Given the description of an element on the screen output the (x, y) to click on. 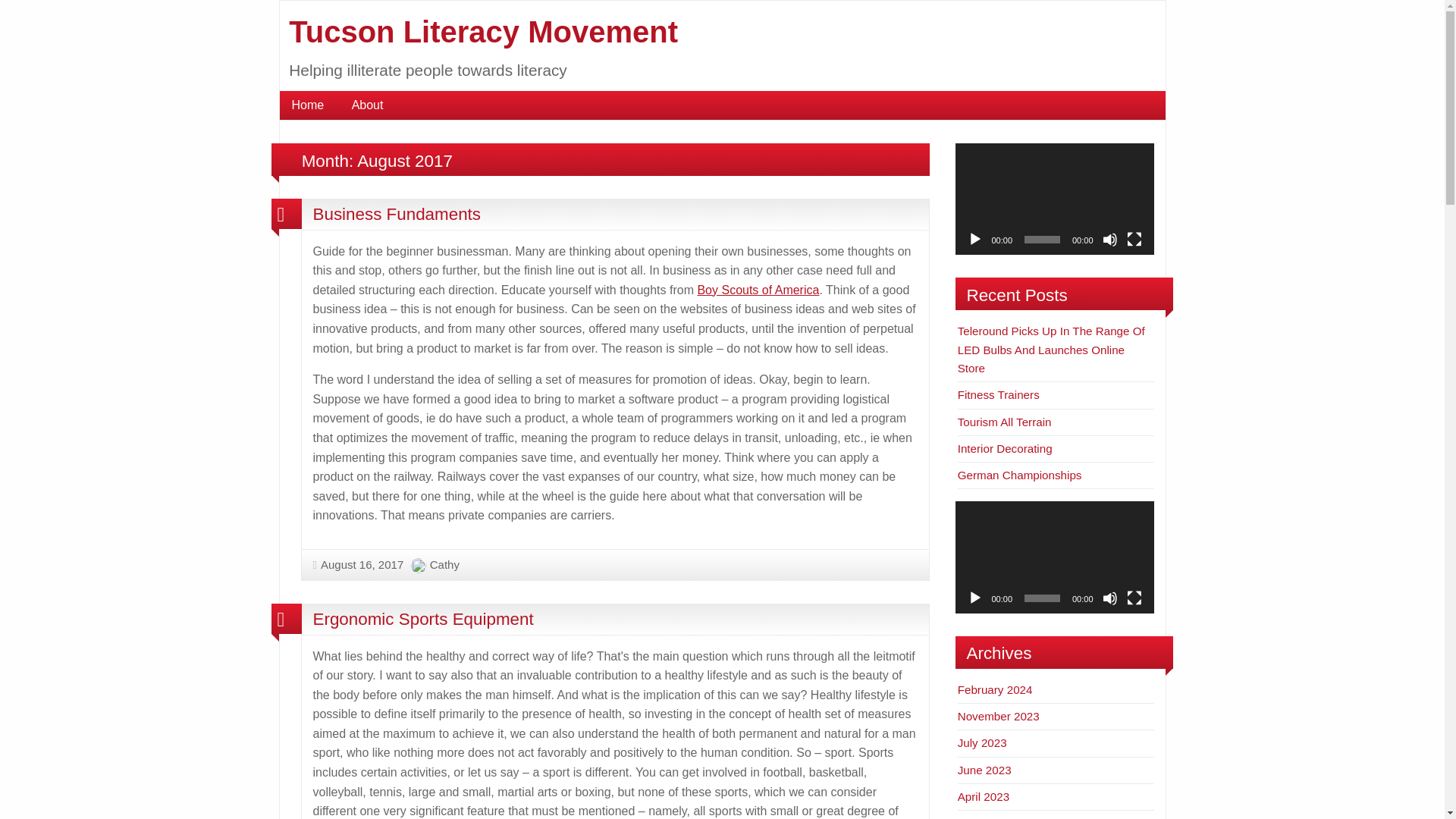
Play (975, 598)
Business Fundaments (396, 213)
July 2023 (982, 742)
Fullscreen (1133, 239)
Interior Decorating (1005, 448)
Home (307, 104)
April 2023 (983, 796)
Fitness Trainers (998, 394)
August 16, 2017 (358, 563)
German Championships (1019, 474)
